Given the description of an element on the screen output the (x, y) to click on. 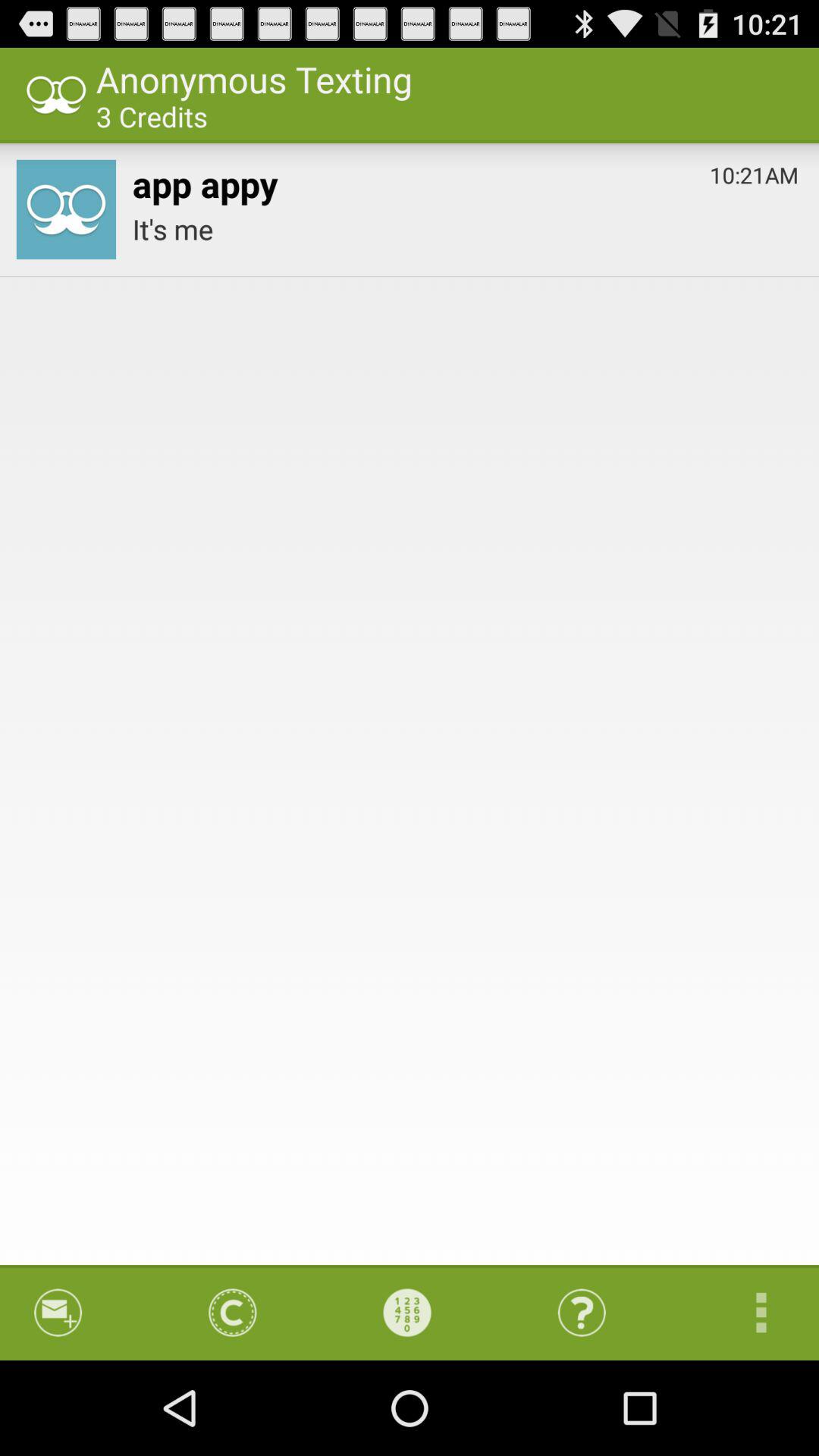
click icon above it's me (205, 180)
